Given the description of an element on the screen output the (x, y) to click on. 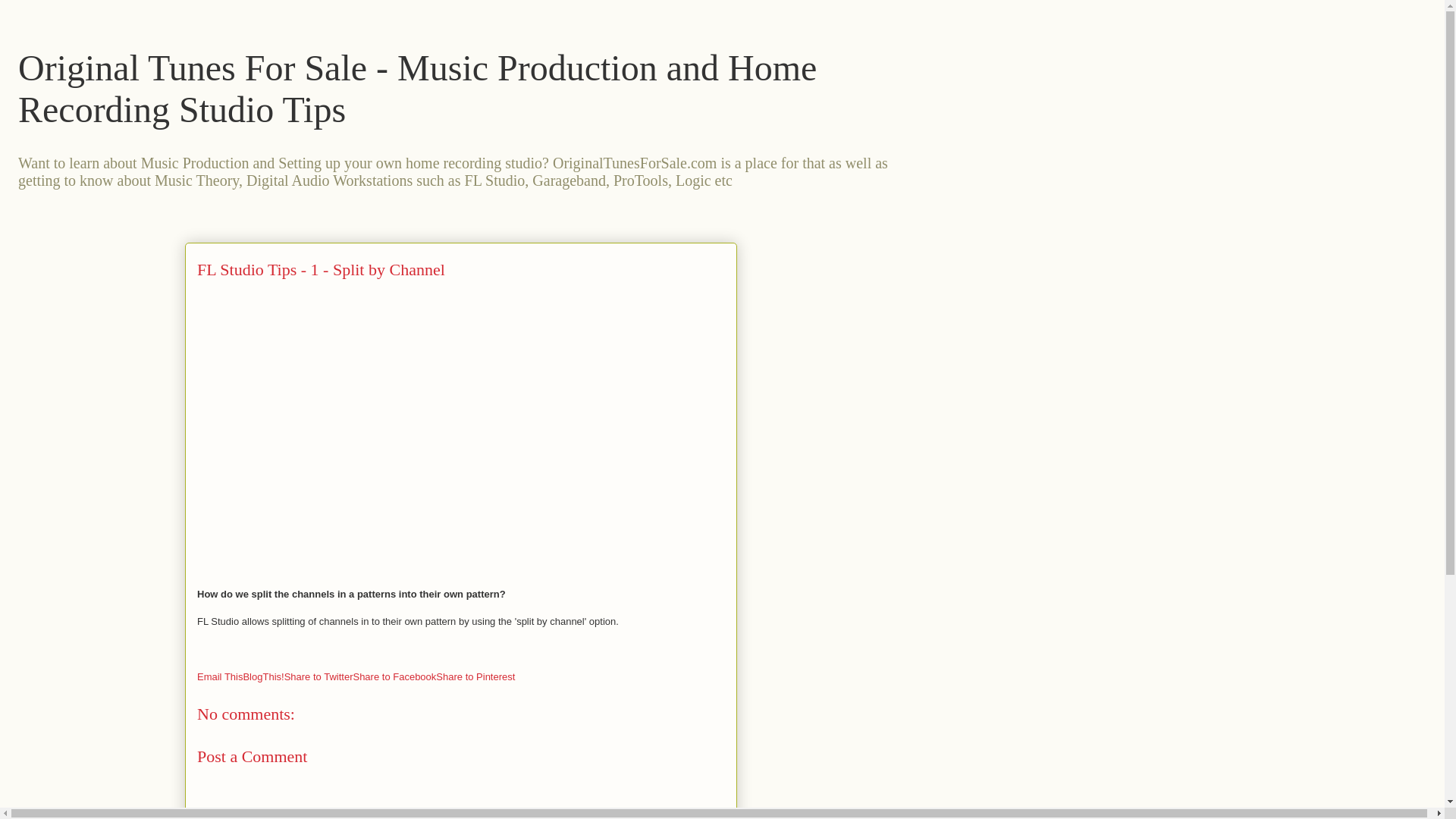
Share to Facebook (393, 676)
Email This (219, 676)
Share to Pinterest (475, 676)
Share to Twitter (318, 676)
Share to Pinterest (475, 676)
BlogThis! (263, 676)
Share to Twitter (318, 676)
BlogThis! (263, 676)
Email This (219, 676)
Share to Facebook (393, 676)
